Given the description of an element on the screen output the (x, y) to click on. 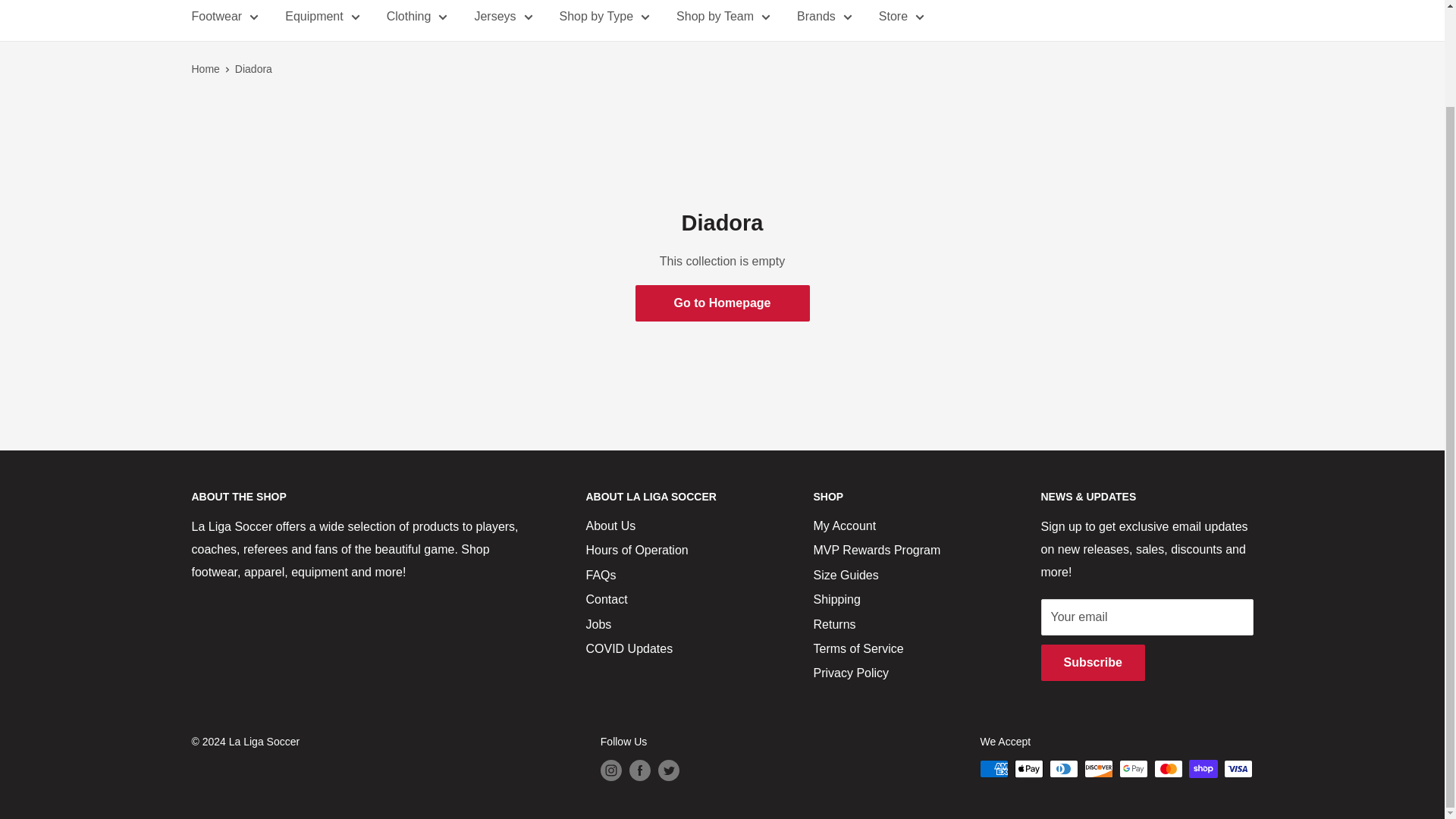
Smile.io Rewards Program Launcher (1358, 669)
